Given the description of an element on the screen output the (x, y) to click on. 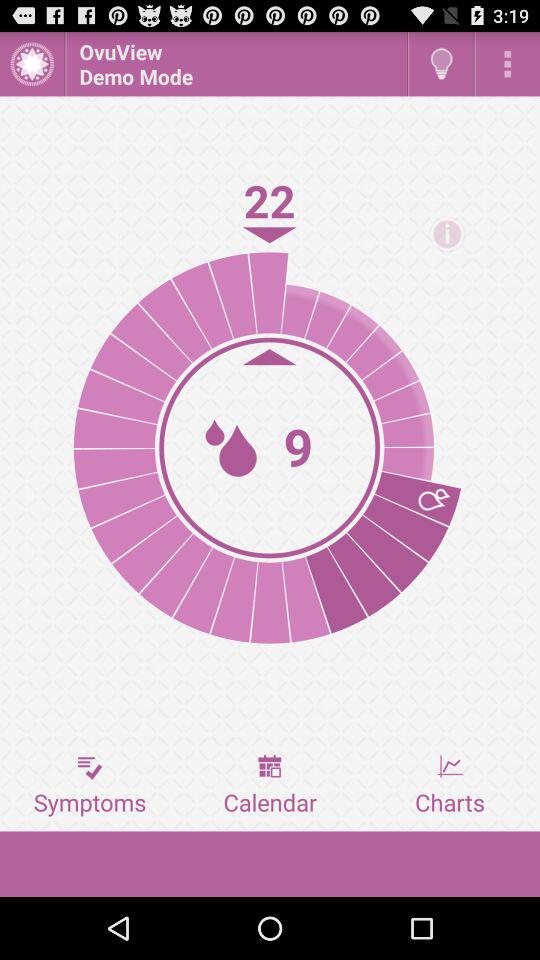
ovuviue demo mode (507, 63)
